Given the description of an element on the screen output the (x, y) to click on. 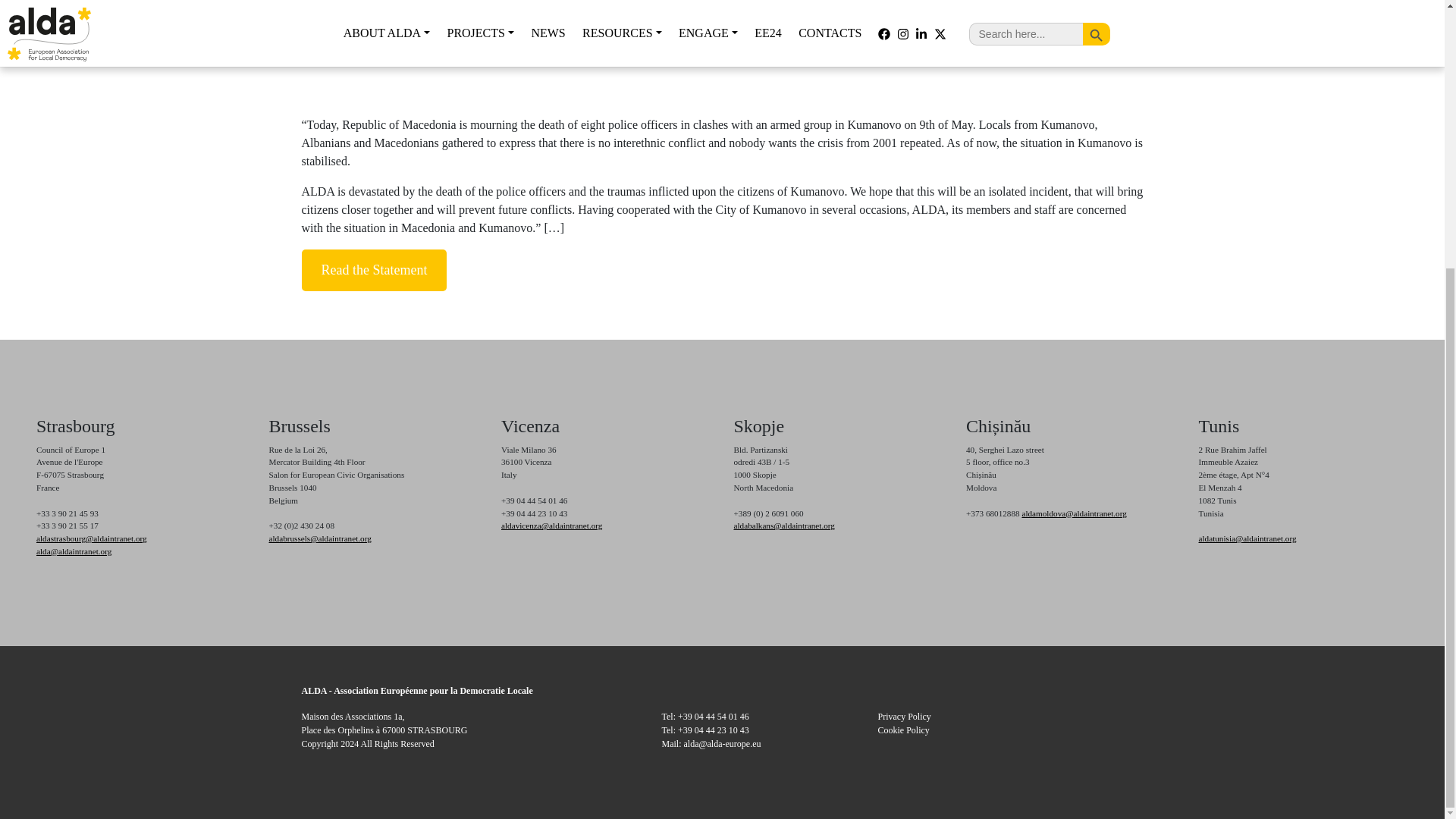
Read the Statement (373, 270)
Privacy Policy  (904, 716)
Cookie Policy  (903, 729)
